Given the description of an element on the screen output the (x, y) to click on. 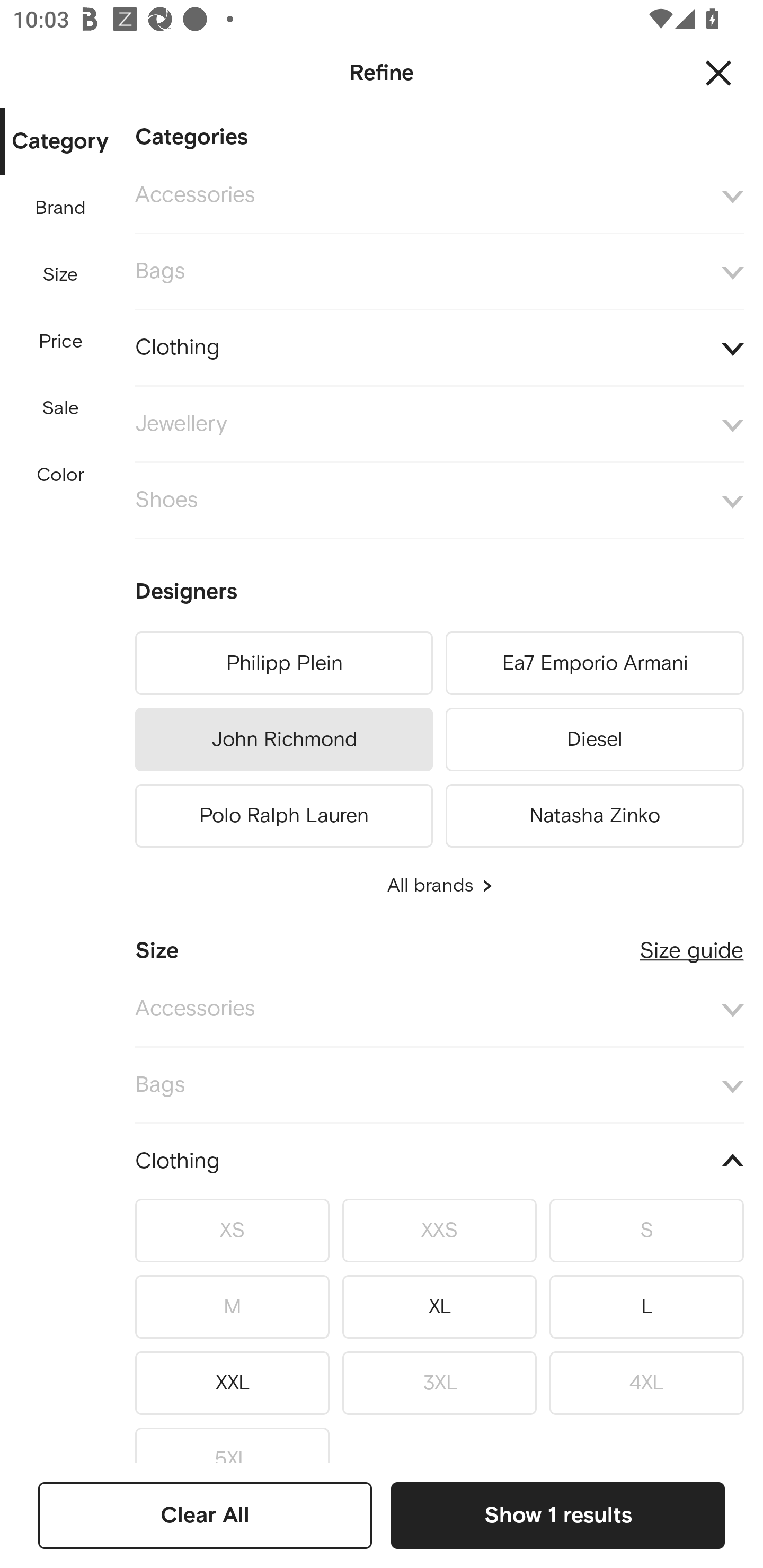
Category (60, 141)
Accessories (439, 194)
Brand (60, 208)
Bags (439, 271)
Size (60, 274)
Price (60, 342)
Clothing (439, 347)
Sale (60, 408)
Jewellery (439, 423)
Color (60, 475)
Shoes (439, 500)
Philipp Plein (283, 662)
Ea7 Emporio Armani (594, 662)
John Richmond (283, 738)
Diesel (594, 738)
Polo Ralph Lauren (283, 812)
Natasha Zinko (594, 812)
All brands (439, 885)
Size guide (691, 942)
Accessories (439, 1008)
Bags (439, 1085)
Clothing (439, 1161)
XS (232, 1229)
XXS (439, 1229)
S (646, 1229)
M (232, 1306)
XL (439, 1306)
L (646, 1306)
XXL (232, 1382)
3XL (439, 1382)
4XL (646, 1382)
5XL (232, 1441)
Clear All (205, 1515)
Show 1 results (557, 1515)
